Given the description of an element on the screen output the (x, y) to click on. 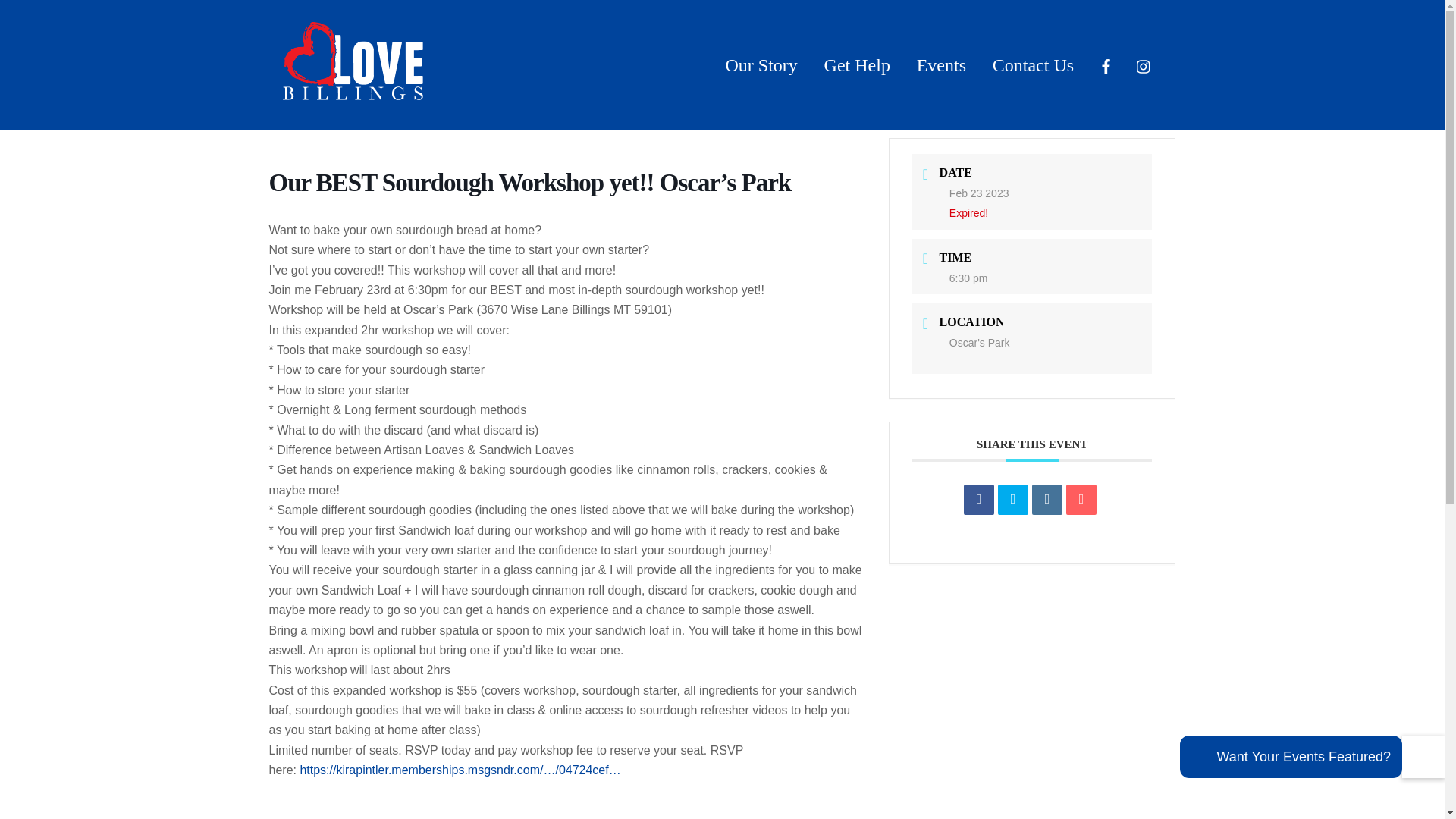
Share on Facebook (978, 499)
Events (940, 65)
Our Story (761, 65)
Linkedin (1047, 499)
Email (721, 52)
Tweet (1080, 499)
Contact Us (1012, 499)
Love Billings (1032, 65)
Get Help (352, 88)
